Given the description of an element on the screen output the (x, y) to click on. 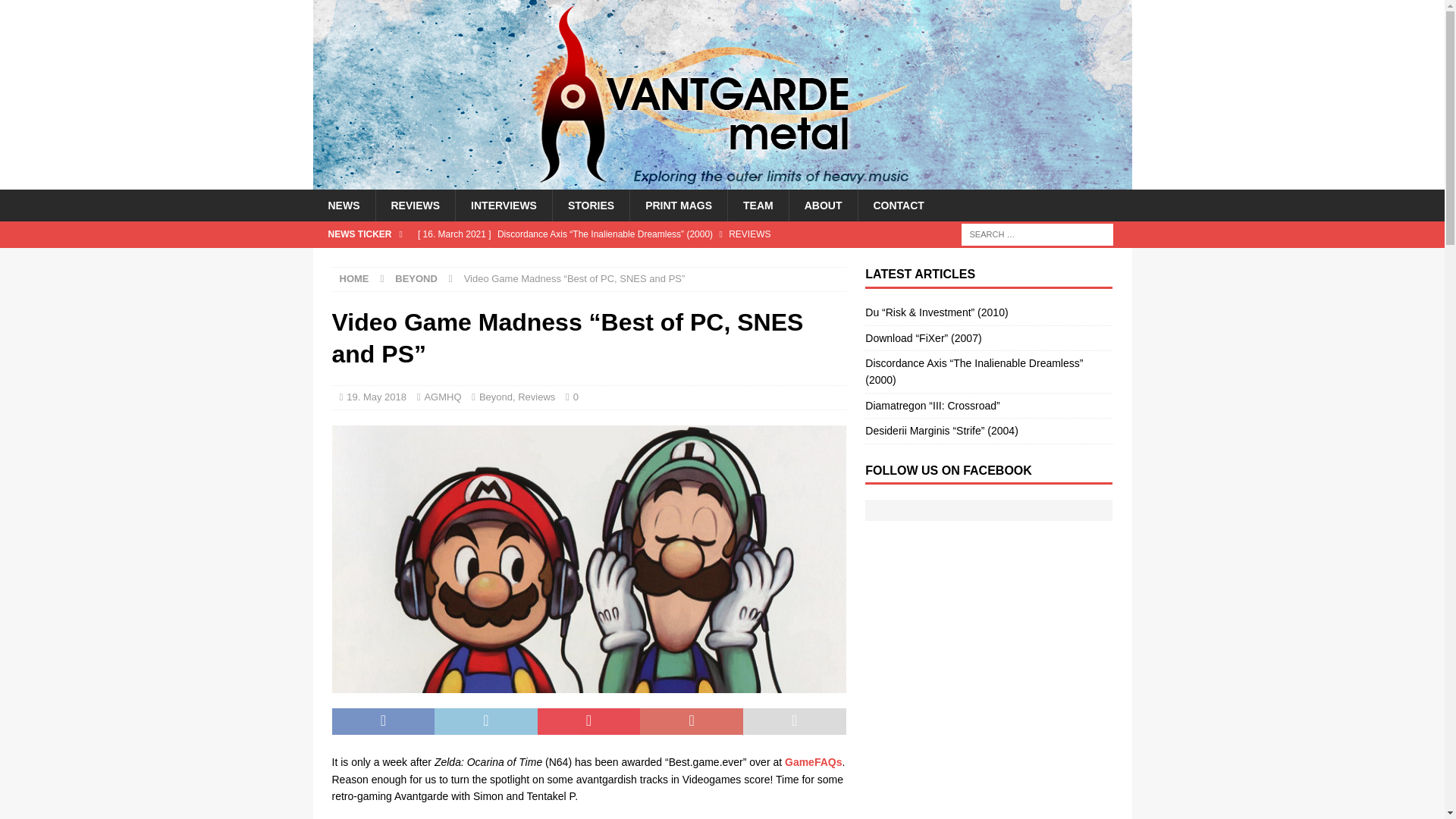
Reviews (536, 396)
STORIES (589, 205)
NEWS (343, 205)
GameFAQs (812, 761)
HOME (354, 278)
CONTACT (898, 205)
BEYOND (416, 278)
Search (56, 11)
Beyond (495, 396)
TEAM (757, 205)
AGMHQ (442, 396)
Avantgarde-Metal.com (722, 181)
PRINT MAGS (677, 205)
REVIEWS (414, 205)
